Given the description of an element on the screen output the (x, y) to click on. 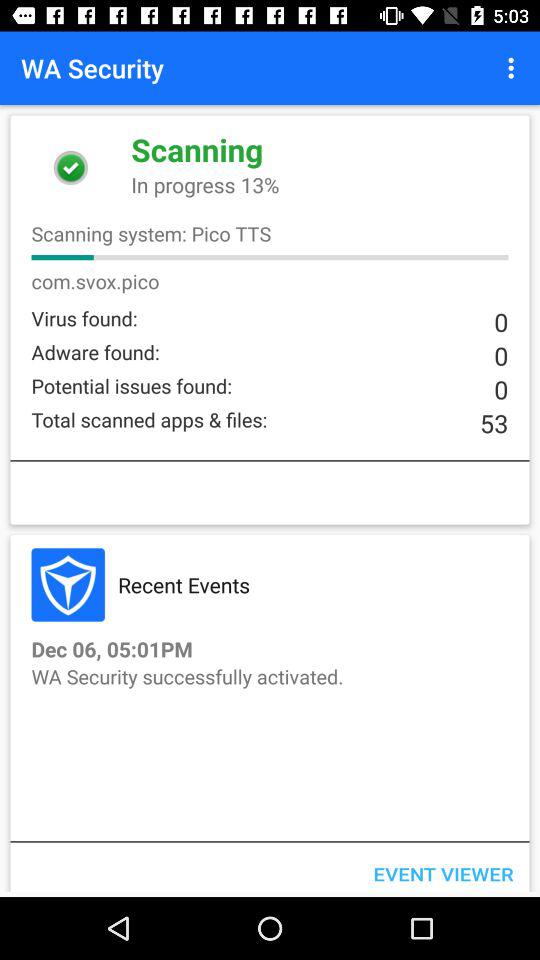
turn on item next to the wa security icon (513, 67)
